Given the description of an element on the screen output the (x, y) to click on. 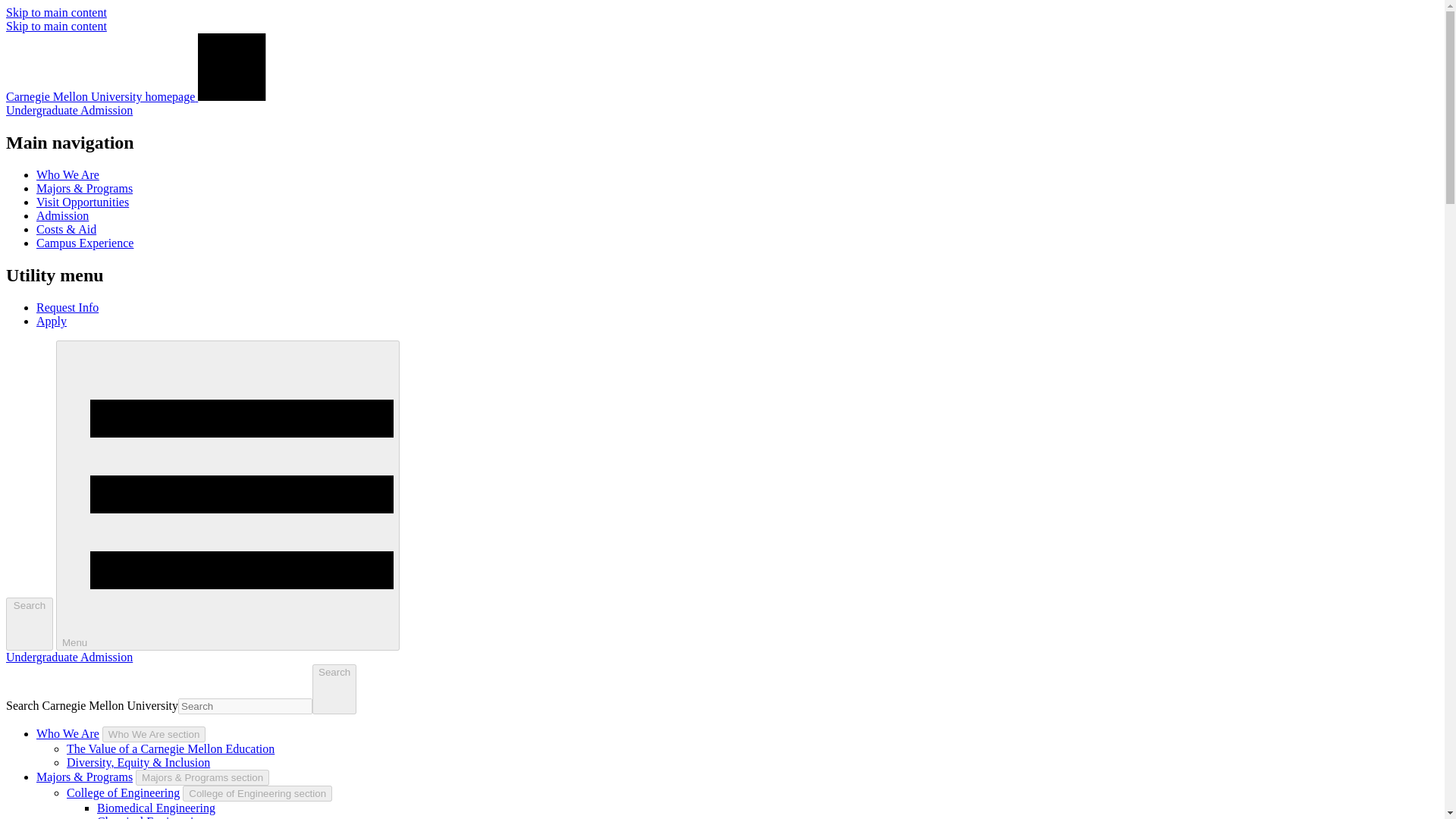
Campus Experience (84, 242)
Who We Are (67, 174)
Biomedical Engineering (156, 807)
Who We Are section (153, 734)
Who We Are (67, 733)
Admission (62, 215)
Undergraduate Admission (68, 110)
Skip to main content (55, 11)
Undergraduate Admission (68, 656)
